Given the description of an element on the screen output the (x, y) to click on. 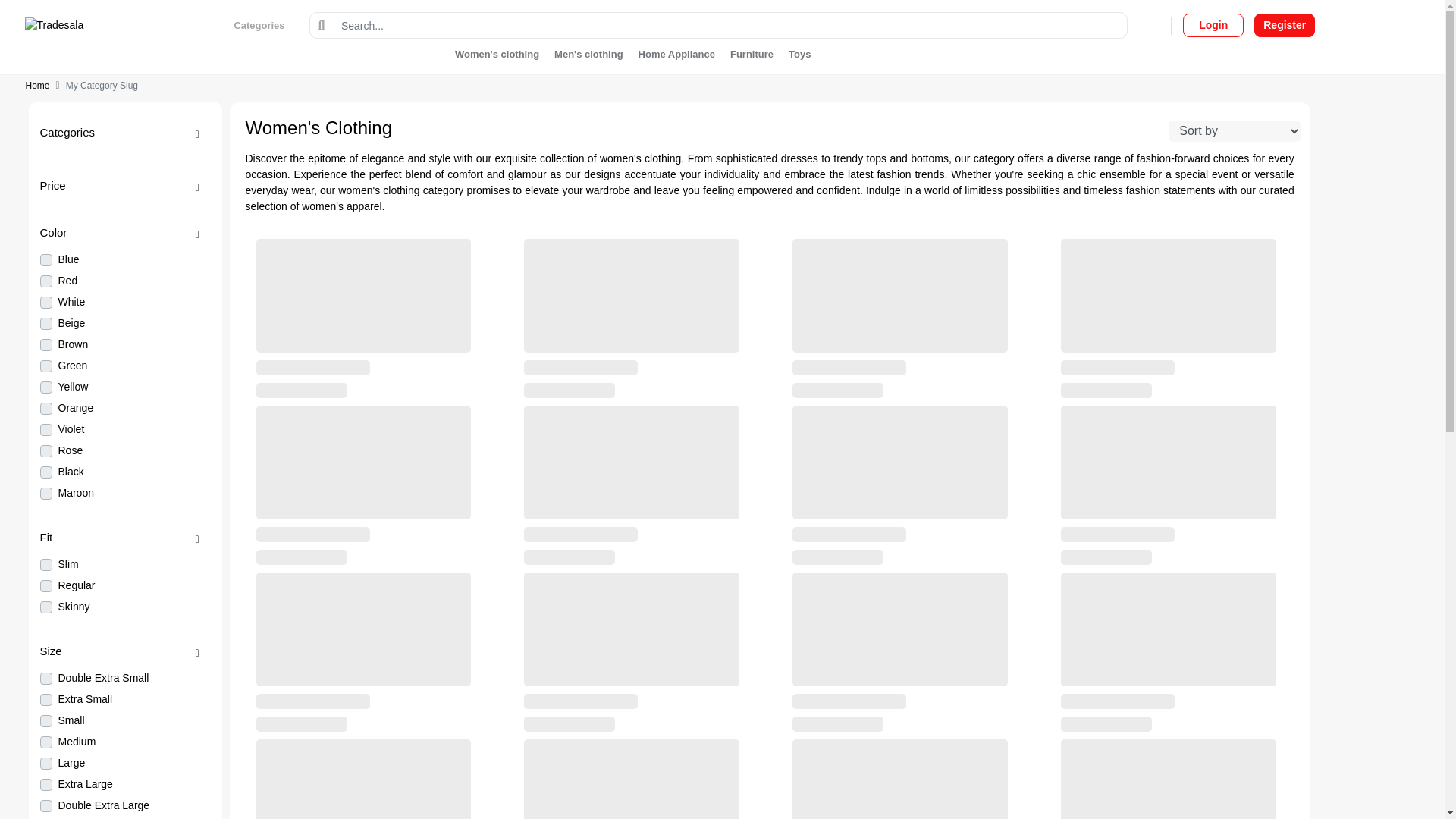
Furniture (751, 53)
Home (37, 85)
Home Appliance (676, 53)
Toys (795, 53)
Women's clothing (500, 53)
Color (124, 232)
Men's clothing (588, 53)
Women's clothing (500, 53)
Toys (795, 53)
Home Appliance (676, 53)
